Given the description of an element on the screen output the (x, y) to click on. 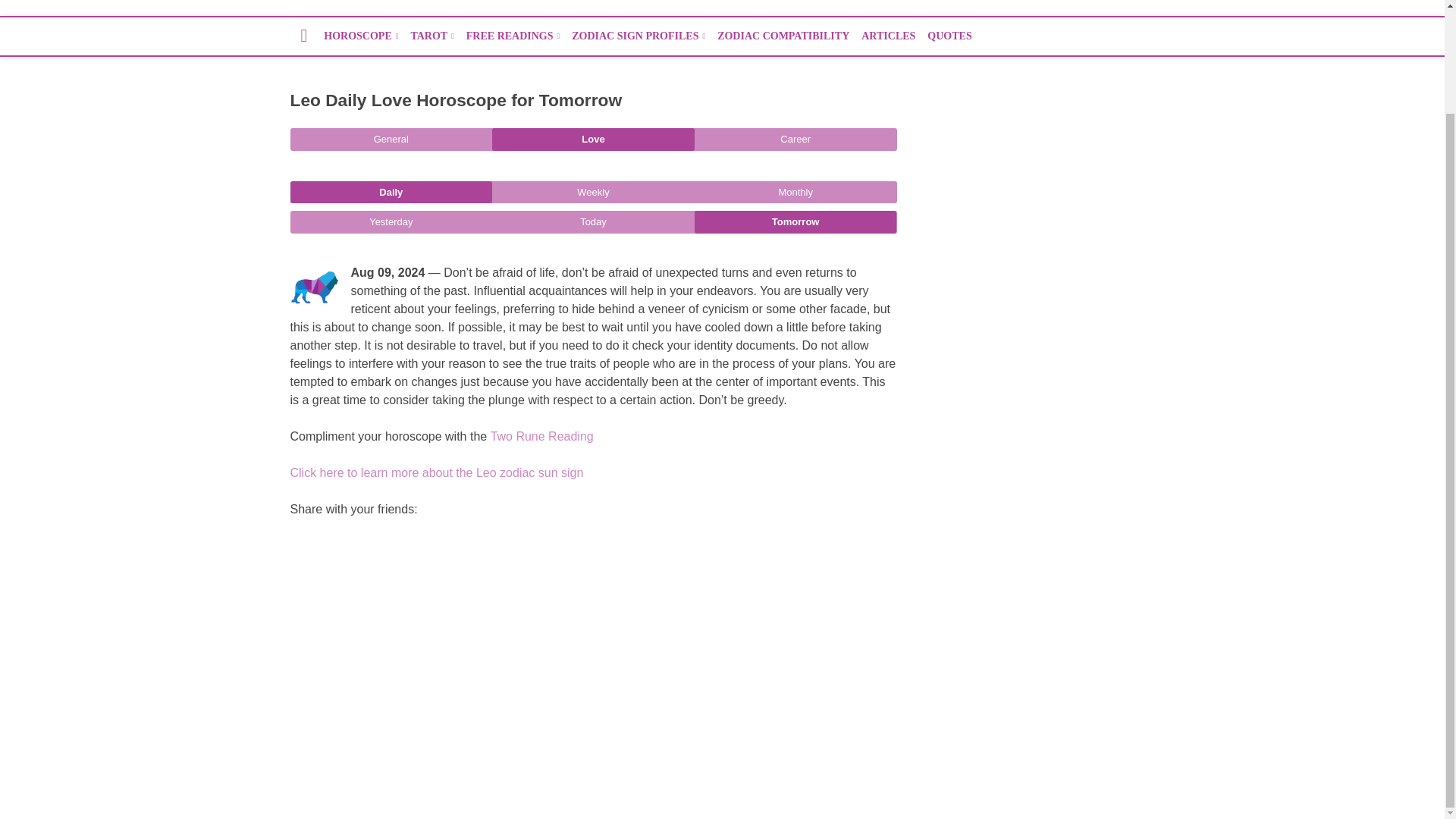
FREE READINGS (513, 36)
ZODIAC SIGN PROFILES (638, 36)
HOROSCOPE (360, 36)
TAROT (432, 36)
